Given the description of an element on the screen output the (x, y) to click on. 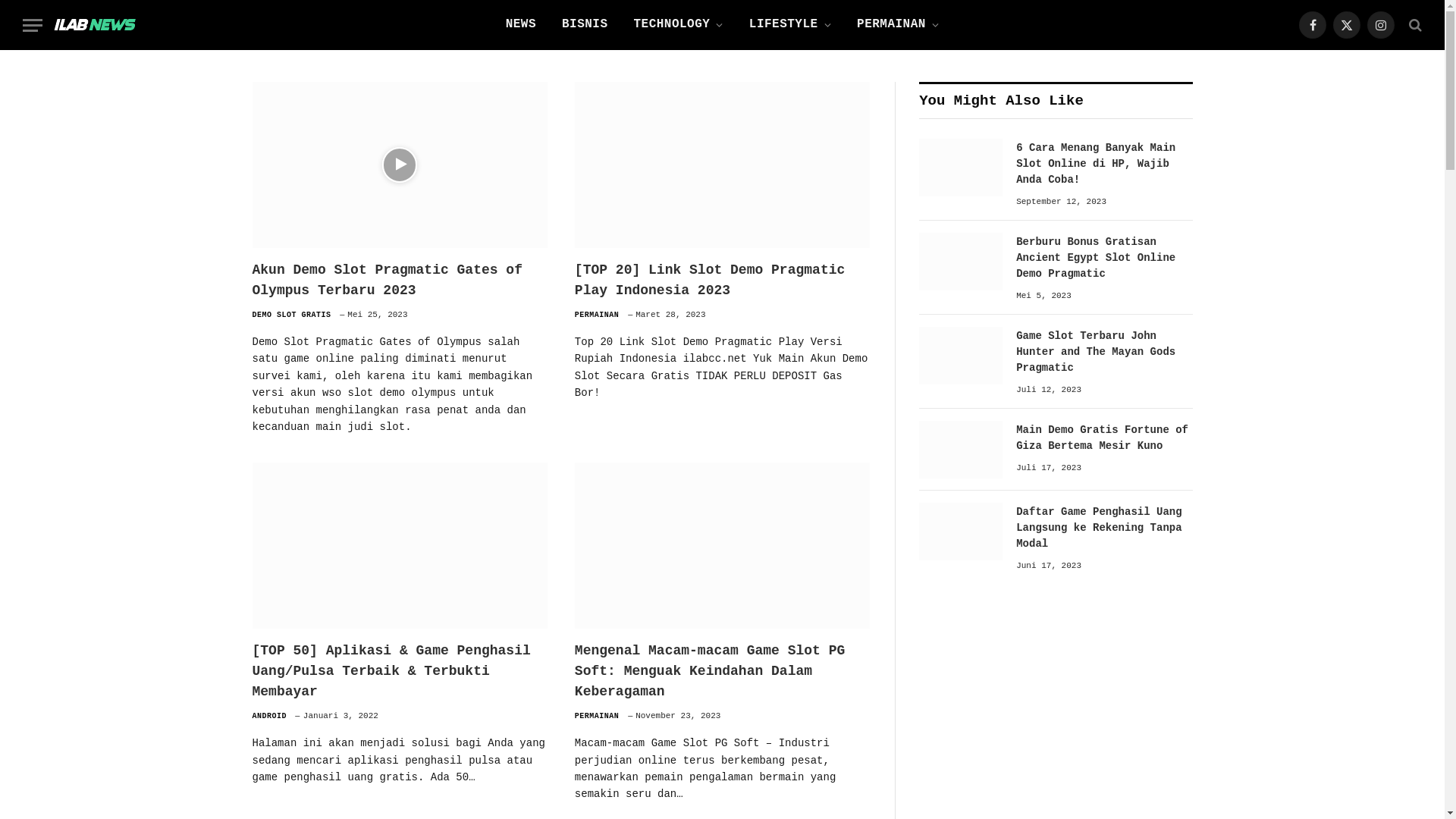
iLab.cc Element type: hover (94, 24)
Daftar Game Penghasil Uang Langsung ke Rekening Tanpa Modal Element type: text (1104, 528)
Main Demo Gratis Fortune of Giza Bertema Mesir Kuno Element type: text (1104, 438)
Akun Demo Slot Pragmatic Gates of Olympus Terbaru 2023 Element type: hover (398, 164)
DEMO SLOT GRATIS Element type: text (290, 314)
X (Twitter) Element type: text (1346, 24)
LIFESTYLE Element type: text (790, 25)
Search Element type: hover (1413, 24)
Akun Demo Slot Pragmatic Gates of Olympus Terbaru 2023 Element type: text (398, 280)
Game Slot Terbaru John Hunter and The Mayan Gods Pragmatic Element type: hover (960, 355)
Daftar Game Penghasil Uang Langsung ke Rekening Tanpa Modal Element type: hover (960, 531)
[TOP 20] Link Slot Demo Pragmatic Play Indonesia 2023 Element type: hover (721, 164)
Main Demo Gratis Fortune of Giza Bertema Mesir Kuno Element type: hover (960, 449)
Game Slot Terbaru John Hunter and The Mayan Gods Pragmatic Element type: text (1104, 352)
BISNIS Element type: text (585, 25)
NEWS Element type: text (520, 25)
PERMAINAN Element type: text (596, 314)
PERMAINAN Element type: text (897, 25)
Facebook Element type: text (1312, 24)
[TOP 20] Link Slot Demo Pragmatic Play Indonesia 2023 Element type: text (721, 280)
ANDROID Element type: text (268, 715)
Instagram Element type: text (1380, 24)
PERMAINAN Element type: text (596, 715)
TECHNOLOGY Element type: text (678, 25)
